Given the description of an element on the screen output the (x, y) to click on. 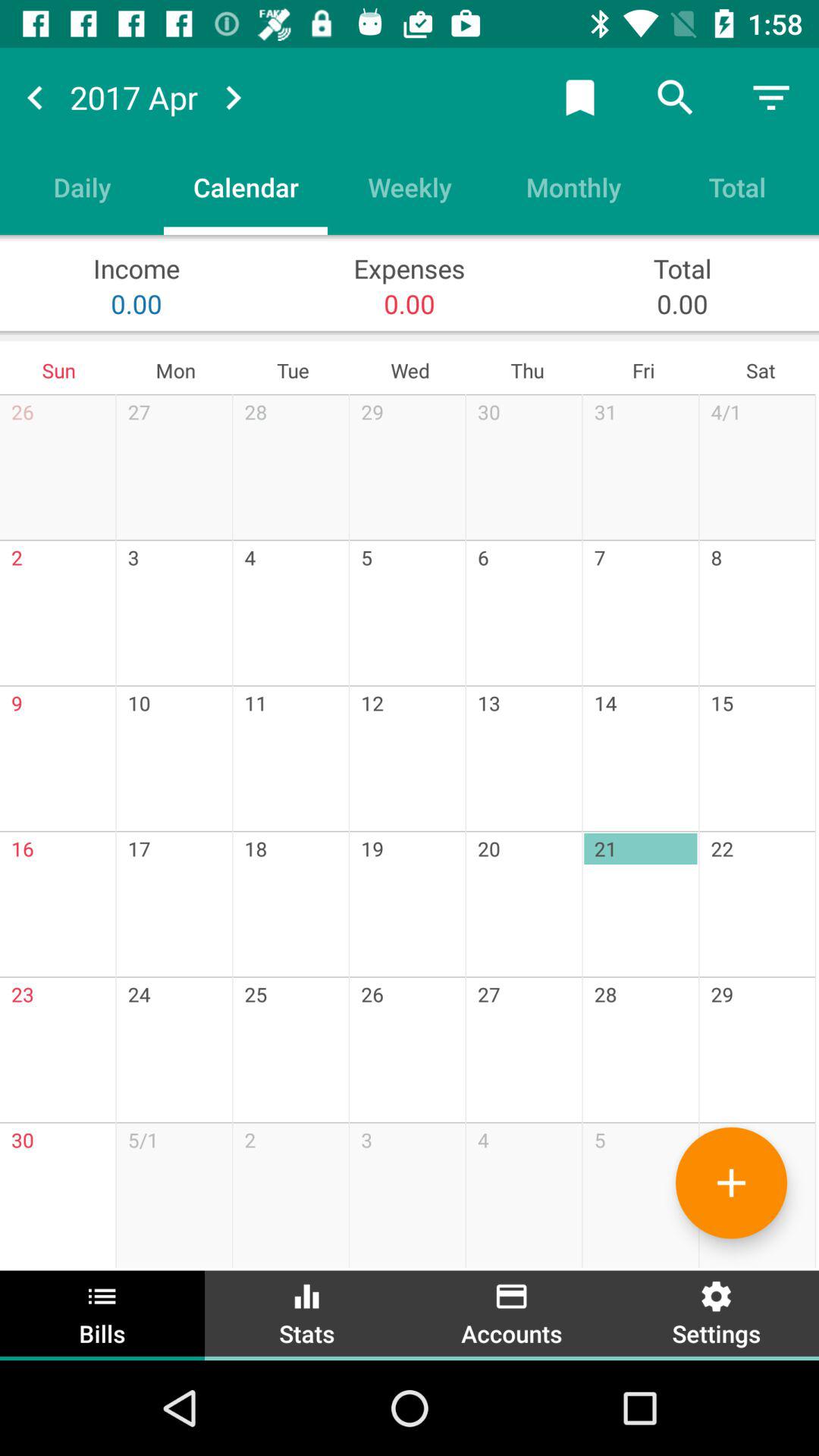
go back to previous month (34, 97)
